Given the description of an element on the screen output the (x, y) to click on. 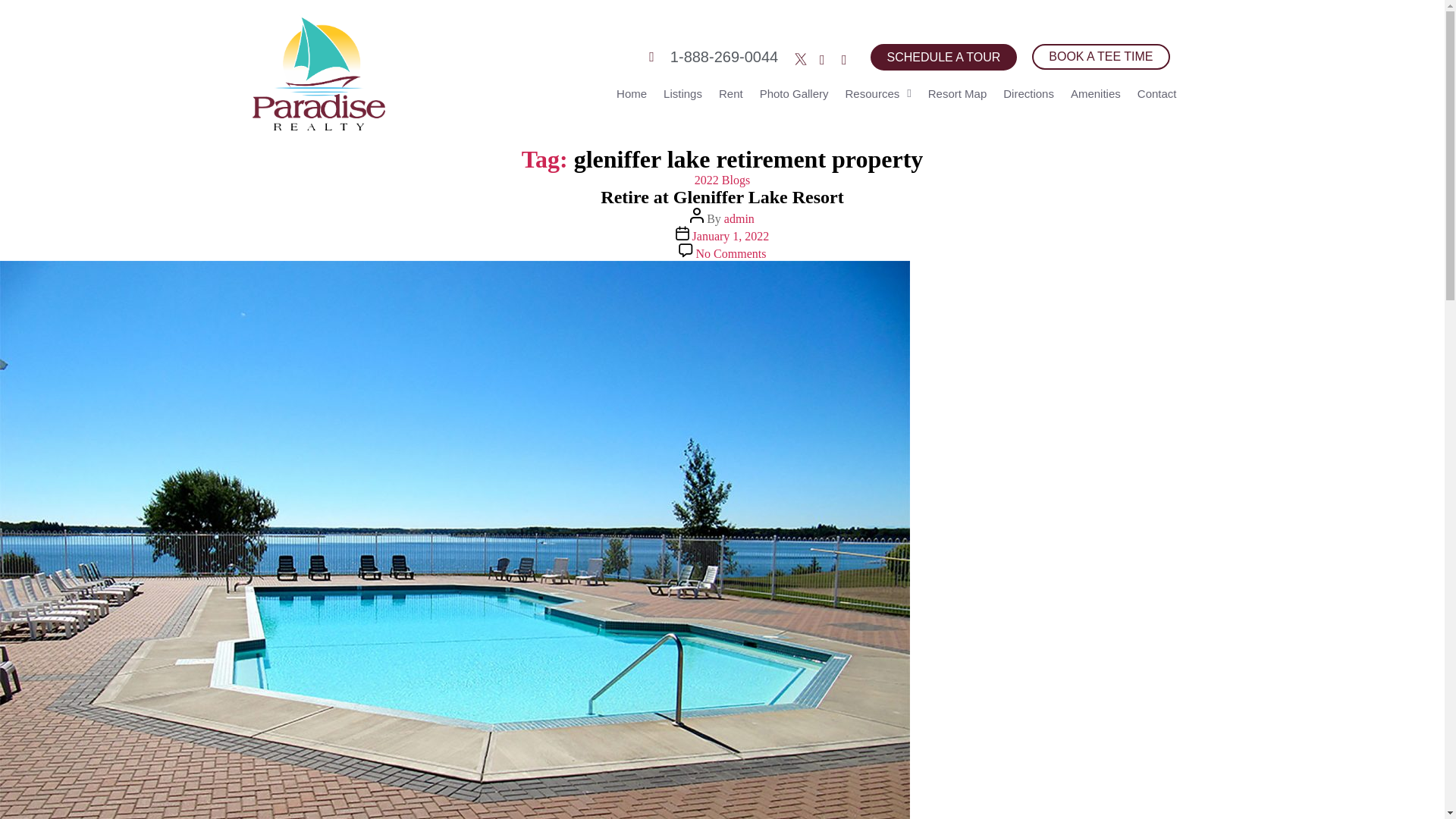
Rent (730, 93)
BOOK A TEE TIME (1100, 56)
SCHEDULE A TOUR (943, 57)
1-888-269-0044 (713, 57)
Photo Gallery (794, 93)
Home (631, 93)
Listings (682, 93)
